Given the description of an element on the screen output the (x, y) to click on. 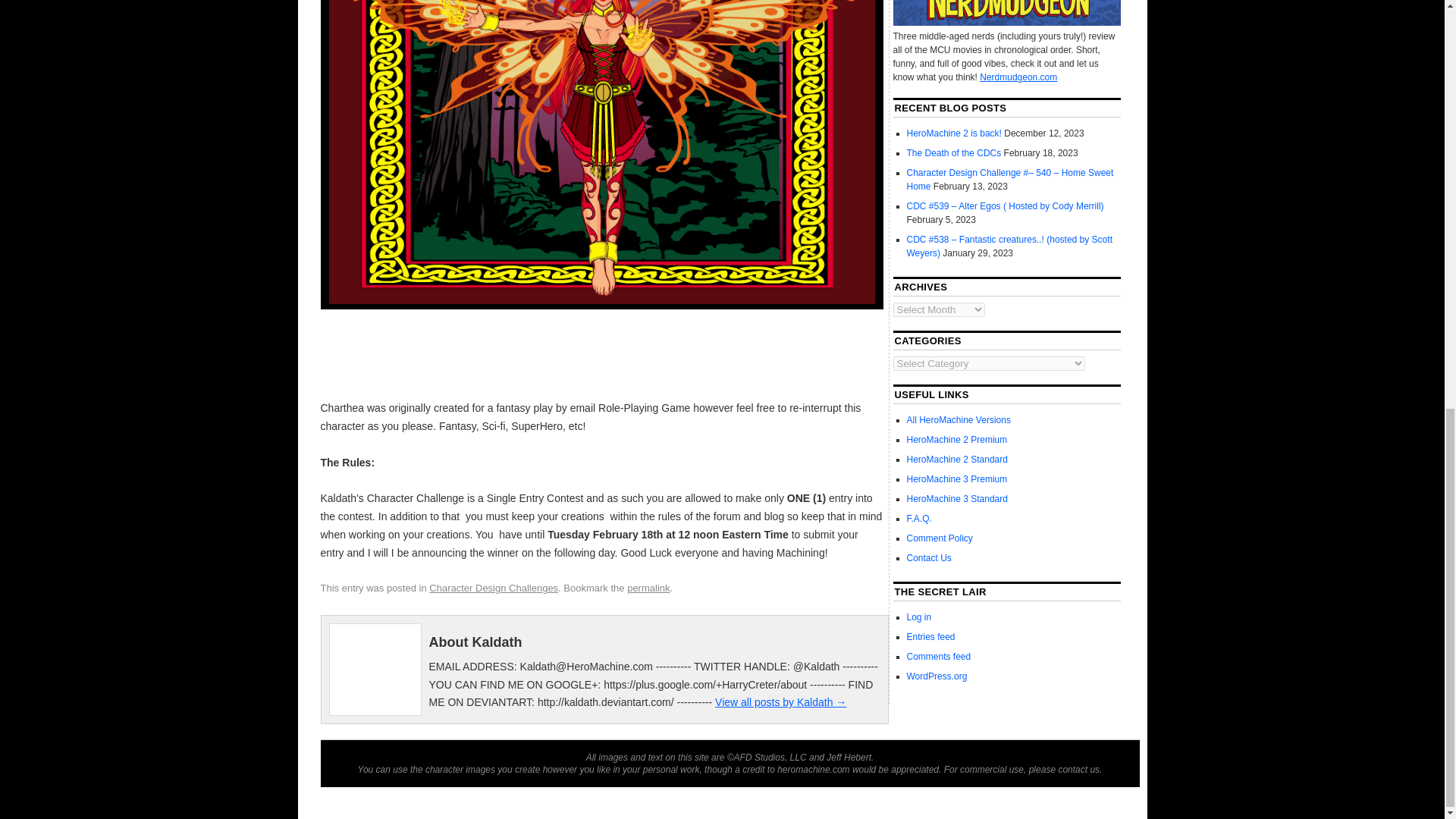
All HeroMachine Versions (958, 419)
Character Design Challenges (493, 587)
HeroMachine 2 Premium (957, 439)
permalink (648, 587)
HeroMachine 2 is back! (954, 132)
F.A.Q. (919, 518)
Comment Policy (939, 538)
HeroMachine 3 Standard (957, 498)
HeroMachine 3 Premium (957, 479)
Nerdmudgeon.com (1018, 77)
HeroMachine 2 Standard (957, 459)
The Death of the CDCs (954, 153)
